Given the description of an element on the screen output the (x, y) to click on. 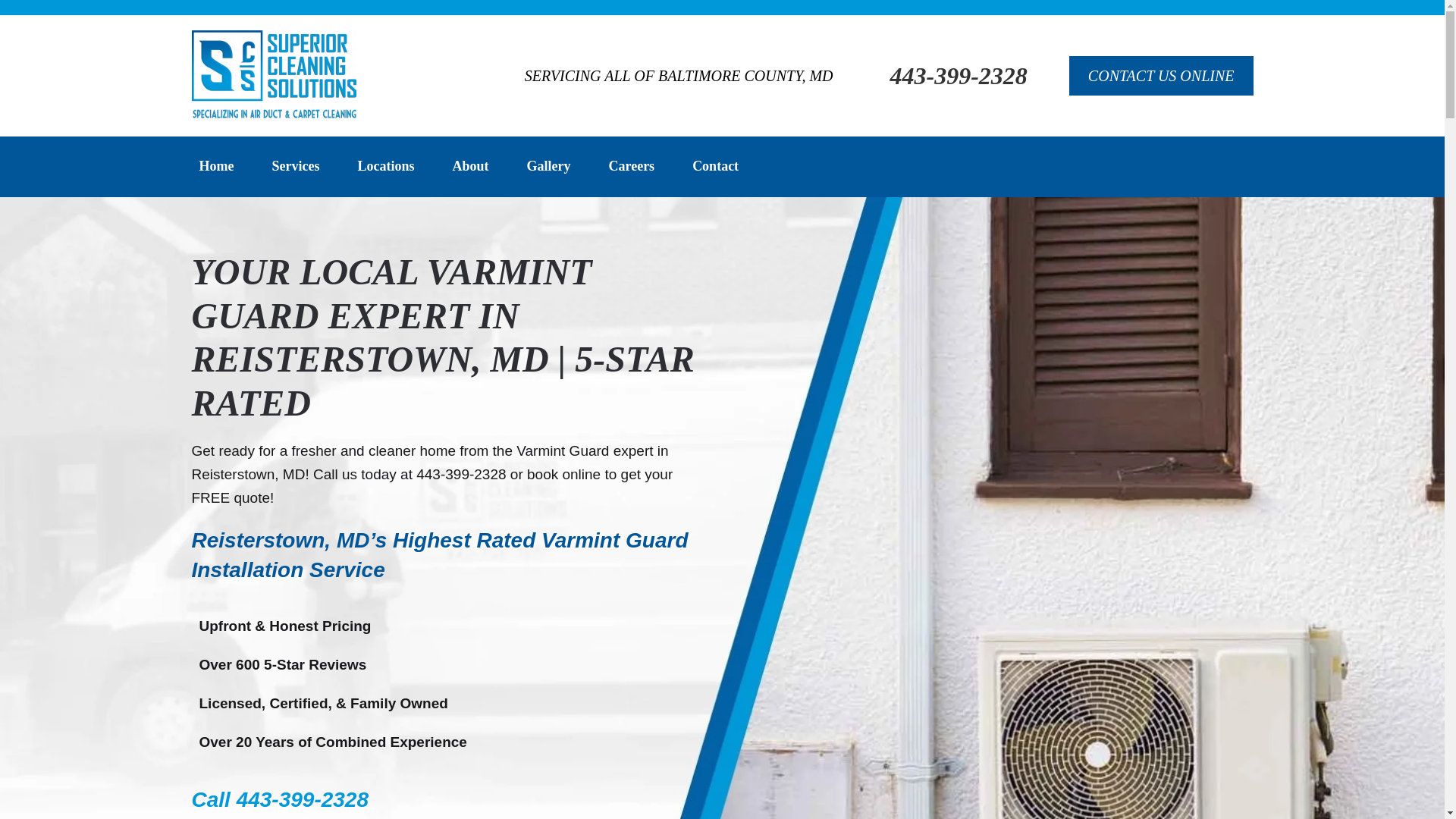
Services (294, 166)
443-399-2328 (958, 75)
CONTACT US ONLINE (1160, 75)
SERVICING ALL OF BALTIMORE COUNTY, MD (678, 75)
